Given the description of an element on the screen output the (x, y) to click on. 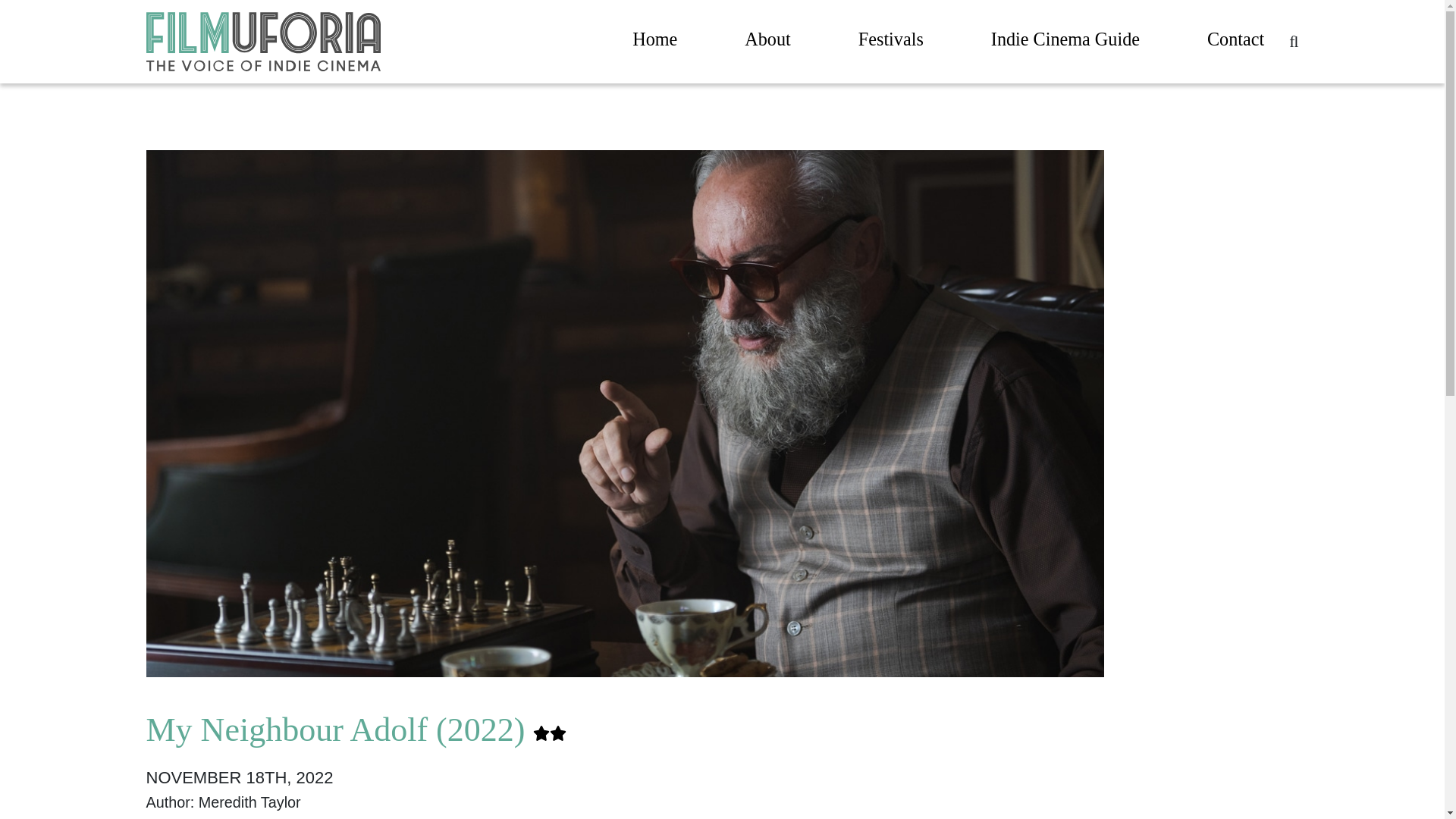
Festivals (891, 42)
Contact (1235, 42)
Indie Cinema Guide (1065, 42)
About (767, 42)
Home (654, 42)
